Given the description of an element on the screen output the (x, y) to click on. 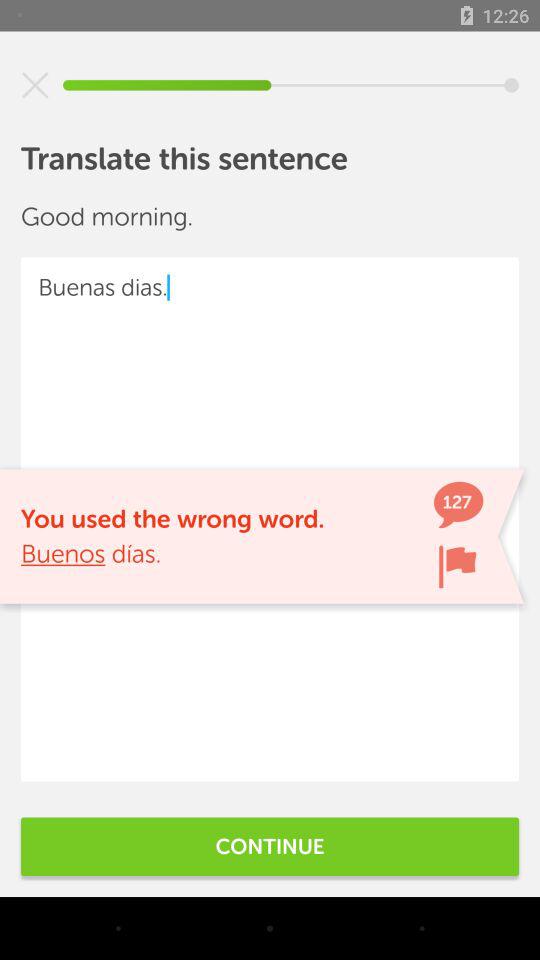
select the item next to the you used the (457, 566)
